Given the description of an element on the screen output the (x, y) to click on. 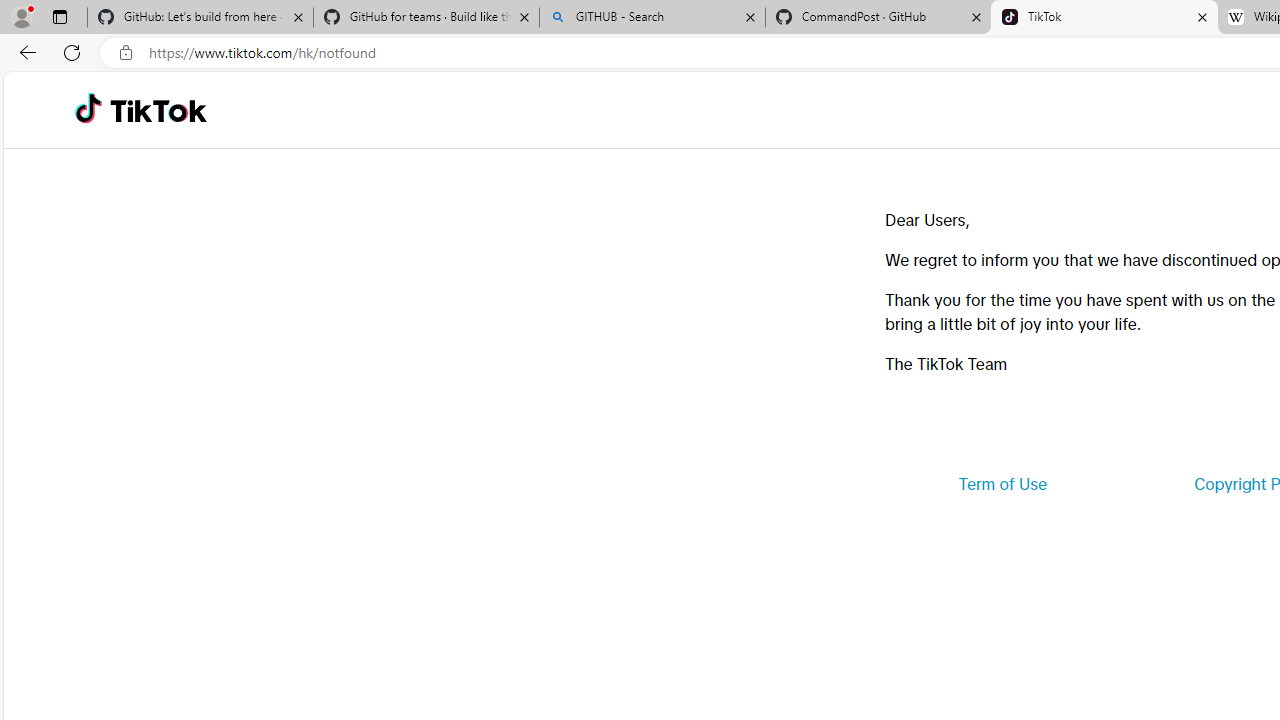
Term of Use (1002, 484)
TikTok (1104, 17)
GITHUB - Search (652, 17)
TikTok (158, 110)
